Given the description of an element on the screen output the (x, y) to click on. 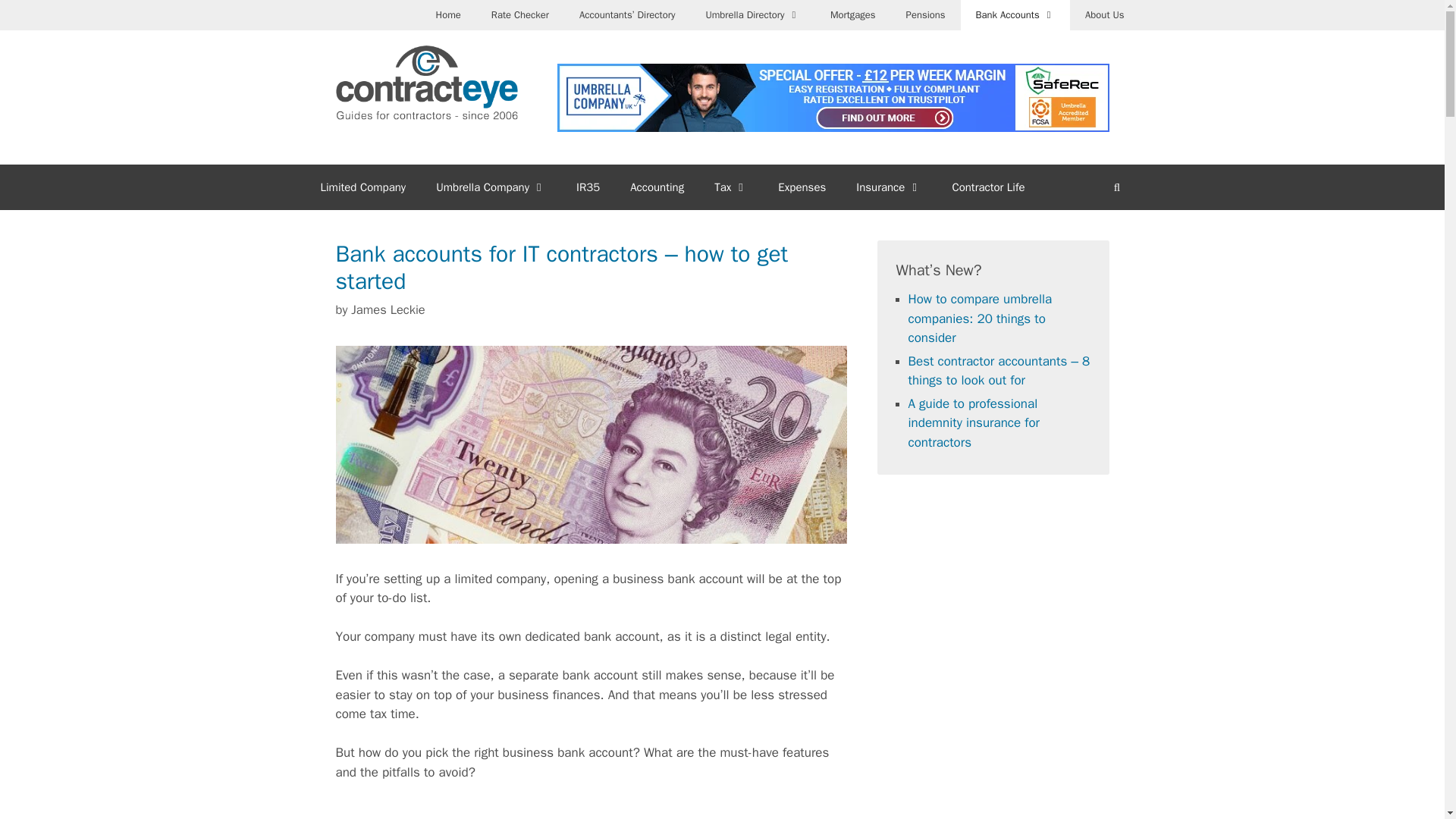
IR35 (587, 186)
Contractor Life (987, 186)
Home (448, 15)
Umbrella Directory (752, 15)
James Leckie (387, 309)
Pensions (925, 15)
Insurance (888, 186)
Mortgages (853, 15)
Tax (730, 186)
Bank Accounts (1015, 15)
Limited Company (362, 186)
Expenses (801, 186)
Rate Checker (520, 15)
About Us (1104, 15)
Accounting (656, 186)
